Given the description of an element on the screen output the (x, y) to click on. 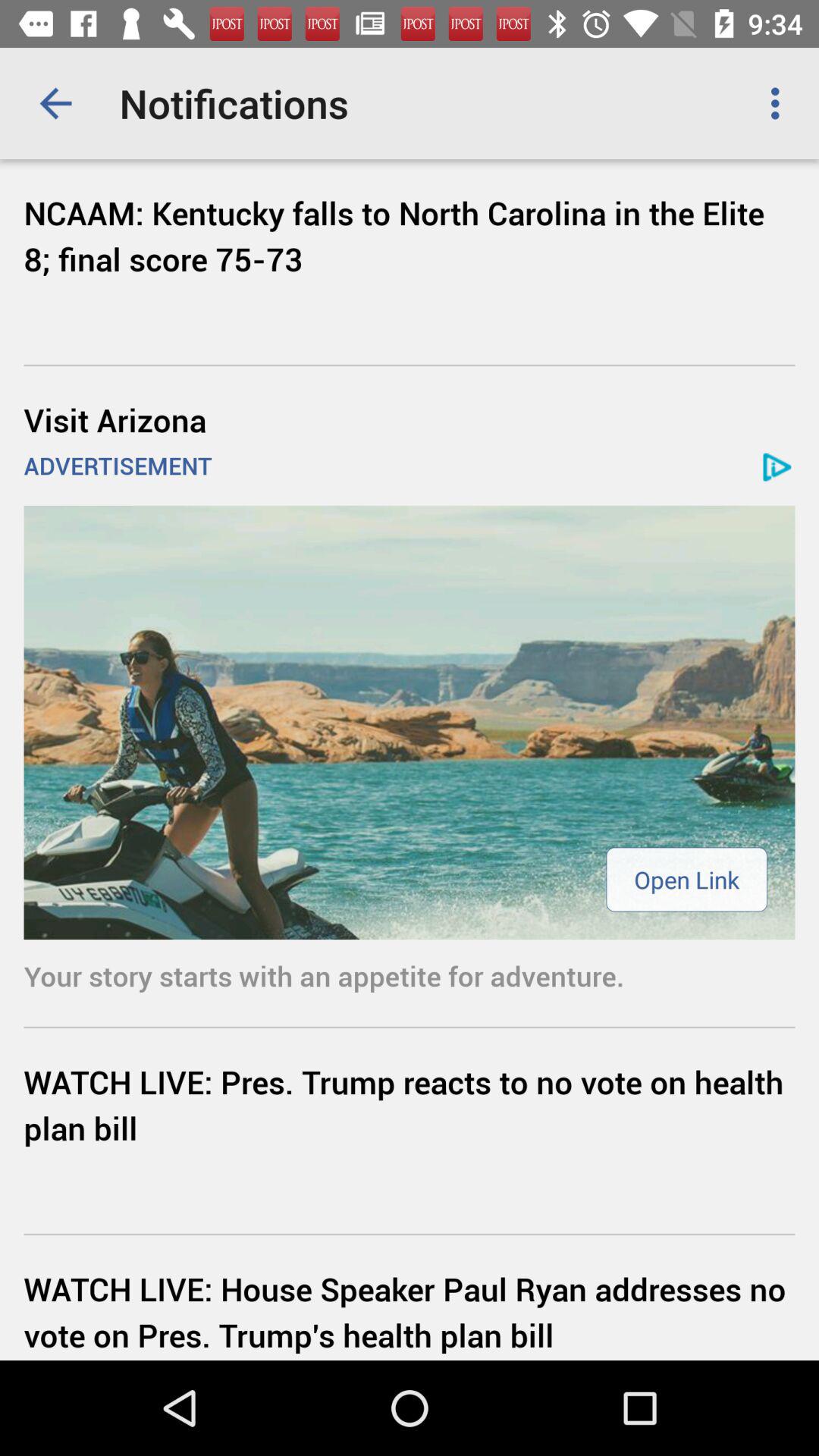
open the icon to the right of notifications app (779, 103)
